Given the description of an element on the screen output the (x, y) to click on. 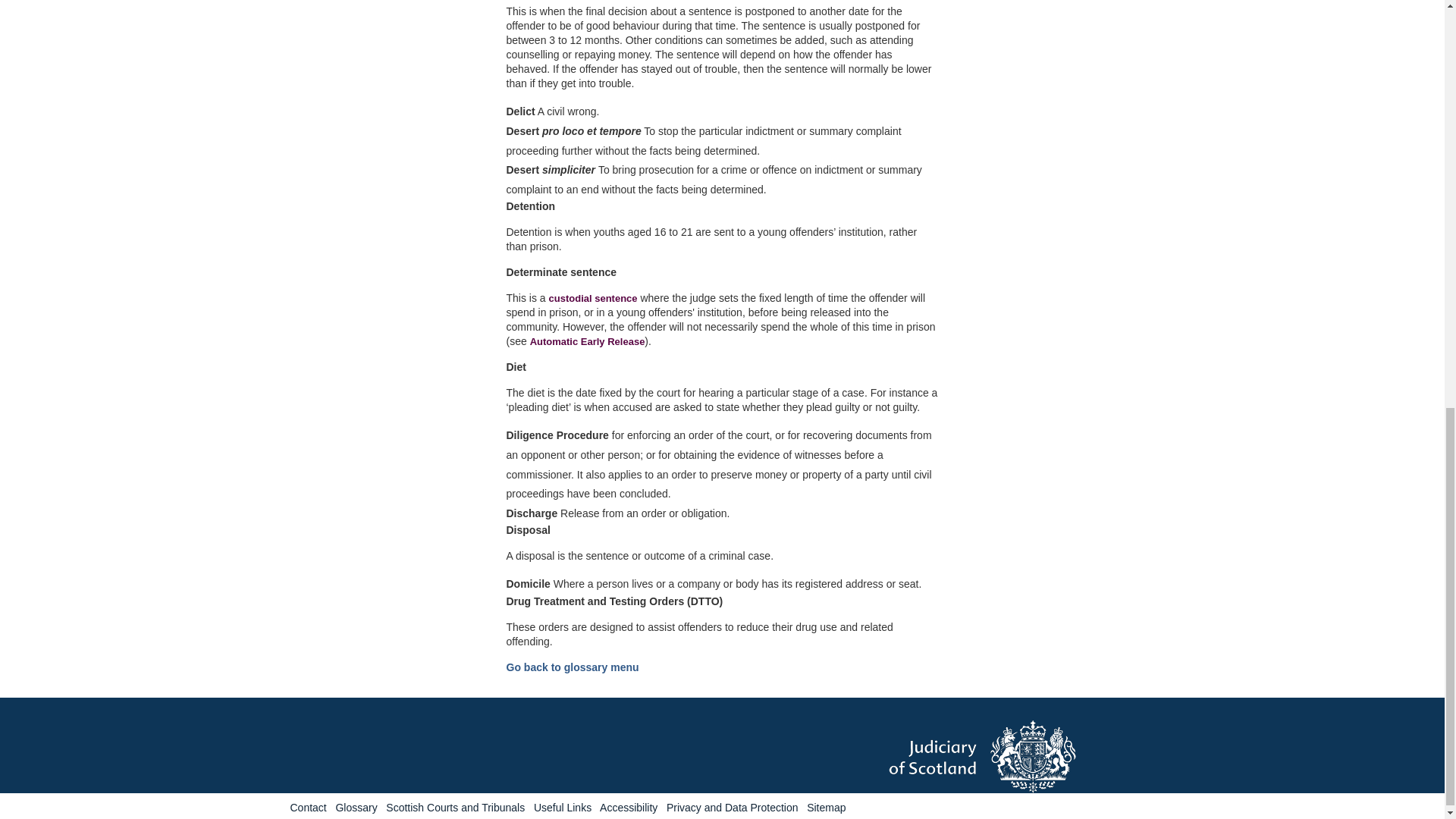
Accessibility (628, 807)
Go back to glossary menu (572, 666)
Contact (307, 807)
JofS-logo-350x96 (1021, 756)
custodial sentence (592, 297)
Privacy and Data Protection (731, 807)
Useful Links (562, 807)
Scottish Courts and Tribunals (454, 807)
Automatic Early Release (587, 341)
Glossary (355, 807)
